Given the description of an element on the screen output the (x, y) to click on. 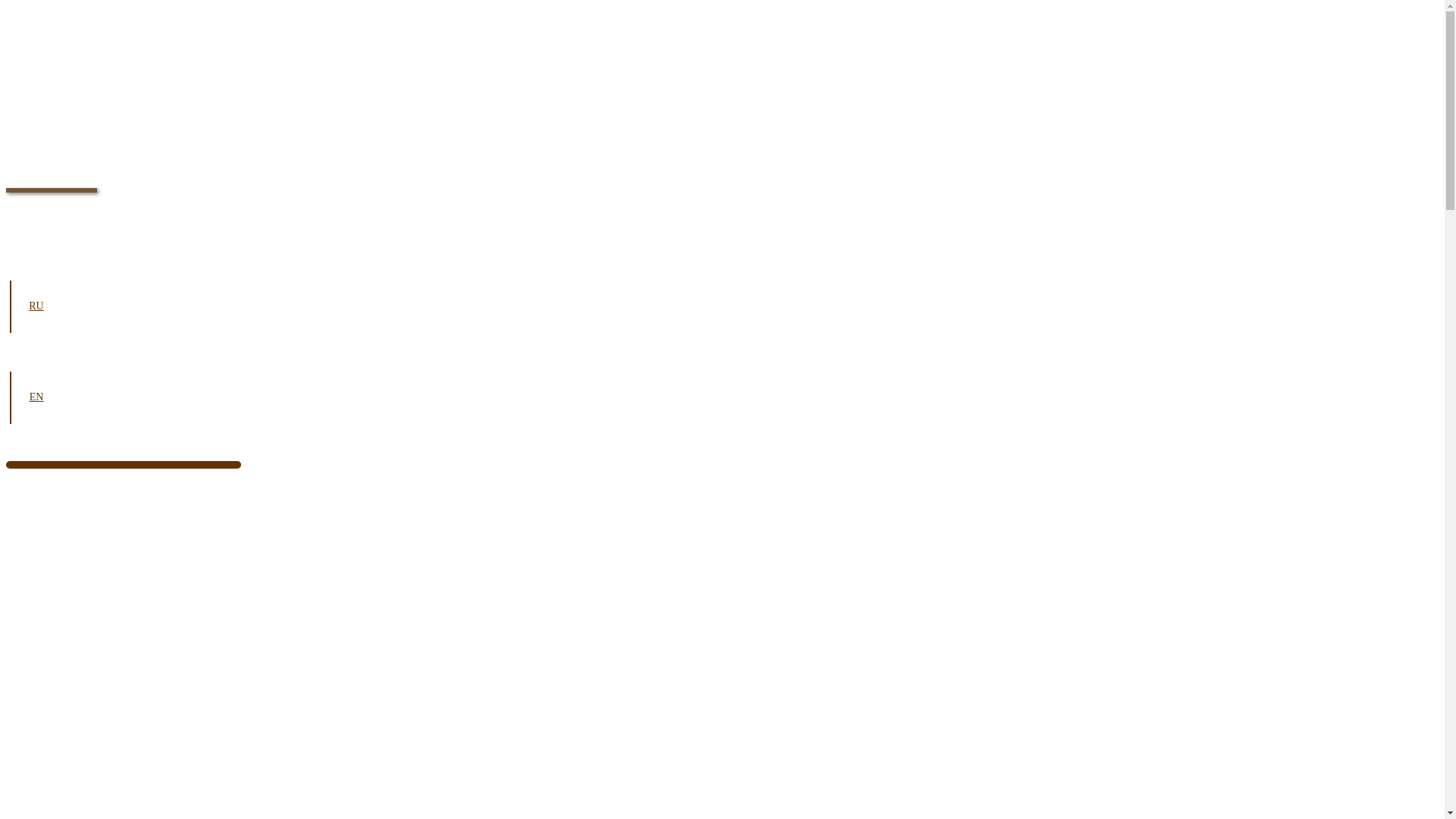
RU Element type: text (35, 306)
EN Element type: text (35, 397)
